Given the description of an element on the screen output the (x, y) to click on. 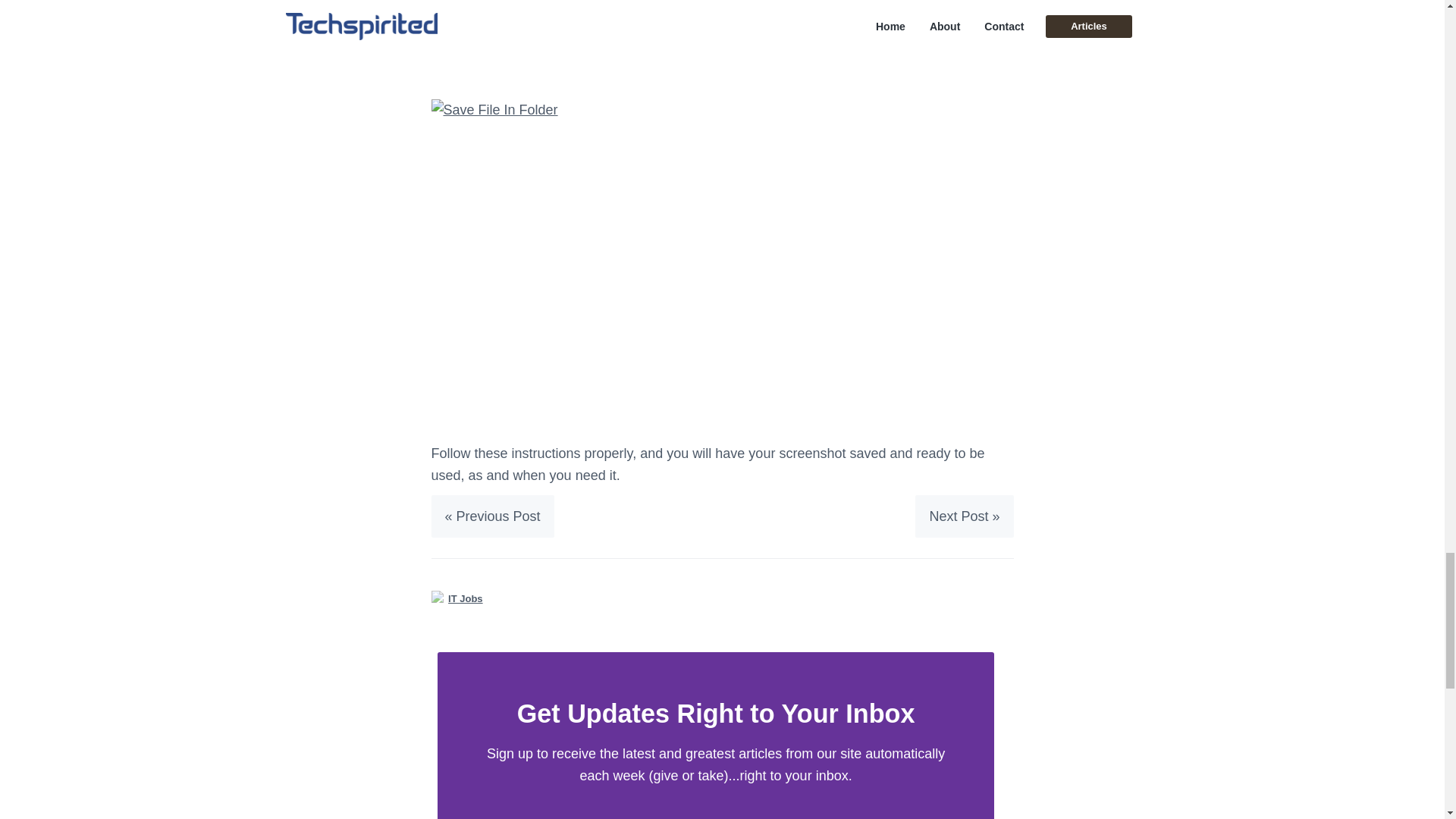
IT Jobs (465, 598)
